Given the description of an element on the screen output the (x, y) to click on. 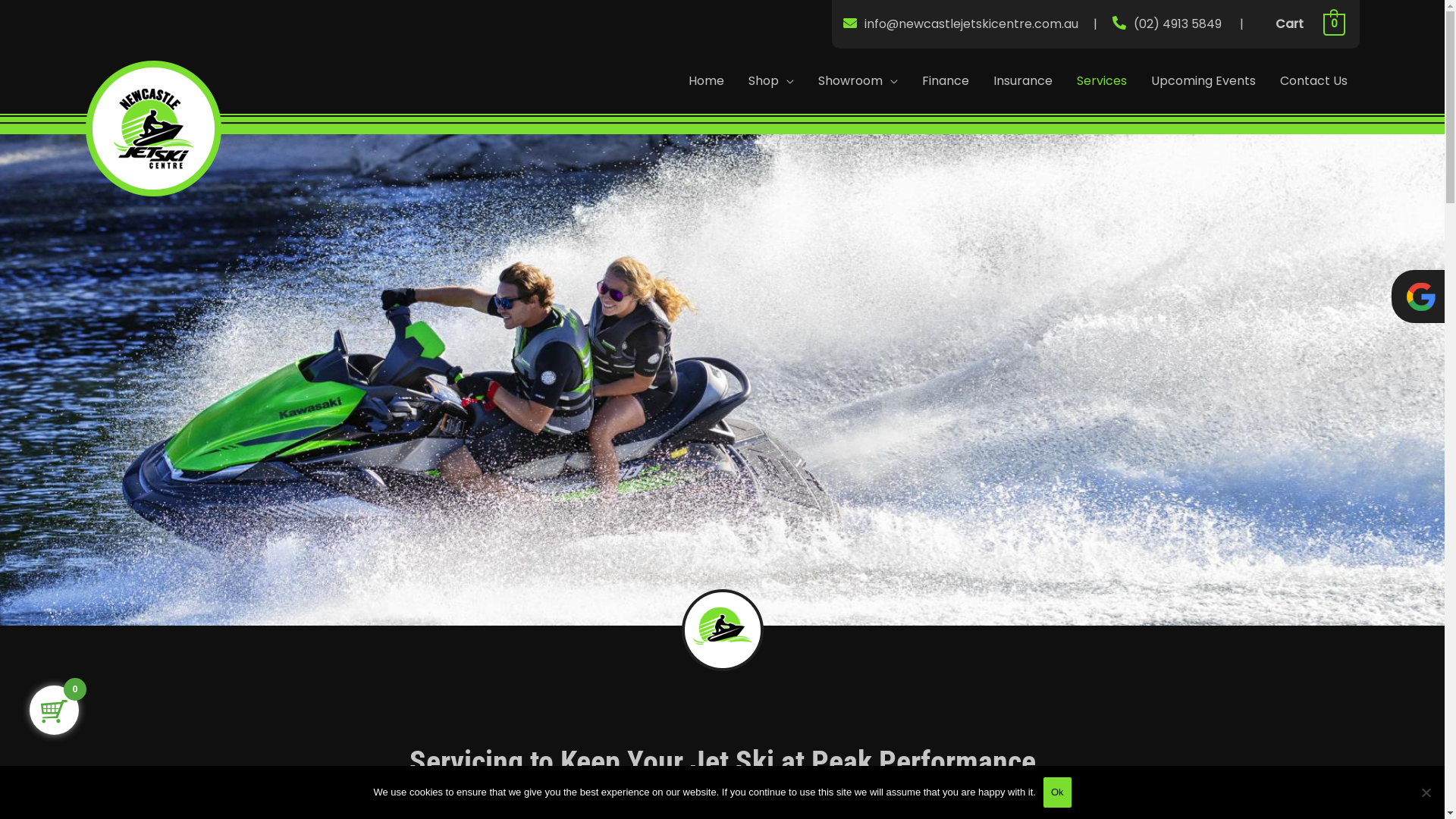
Home Element type: text (706, 80)
Finance Element type: text (945, 80)
Upcoming Events Element type: text (1203, 80)
info@newcastlejetskicentre.com.au Element type: text (971, 23)
Ok Element type: text (1057, 792)
Showroom Element type: text (857, 80)
Insurance Element type: text (1022, 80)
Cart 0 Element type: text (1301, 23)
(02) 4913 5849 Element type: text (1178, 23)
Services Element type: text (1101, 80)
No Element type: hover (1425, 792)
Contact Us Element type: text (1313, 80)
Shop Element type: text (770, 80)
